Given the description of an element on the screen output the (x, y) to click on. 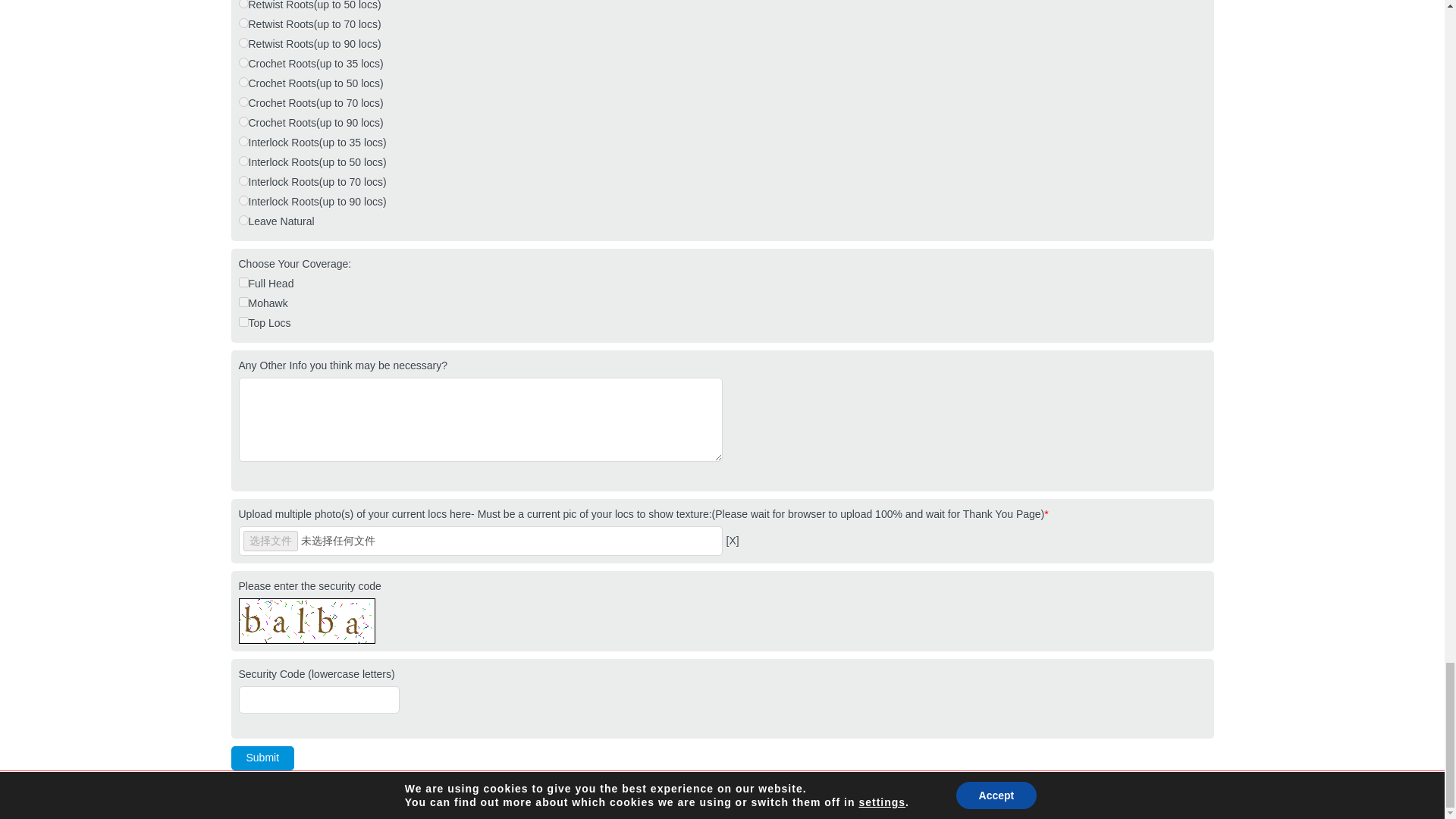
Net Promo Industries. (297, 793)
If you cannot understand the captcha code, press the image (306, 620)
